Given the description of an element on the screen output the (x, y) to click on. 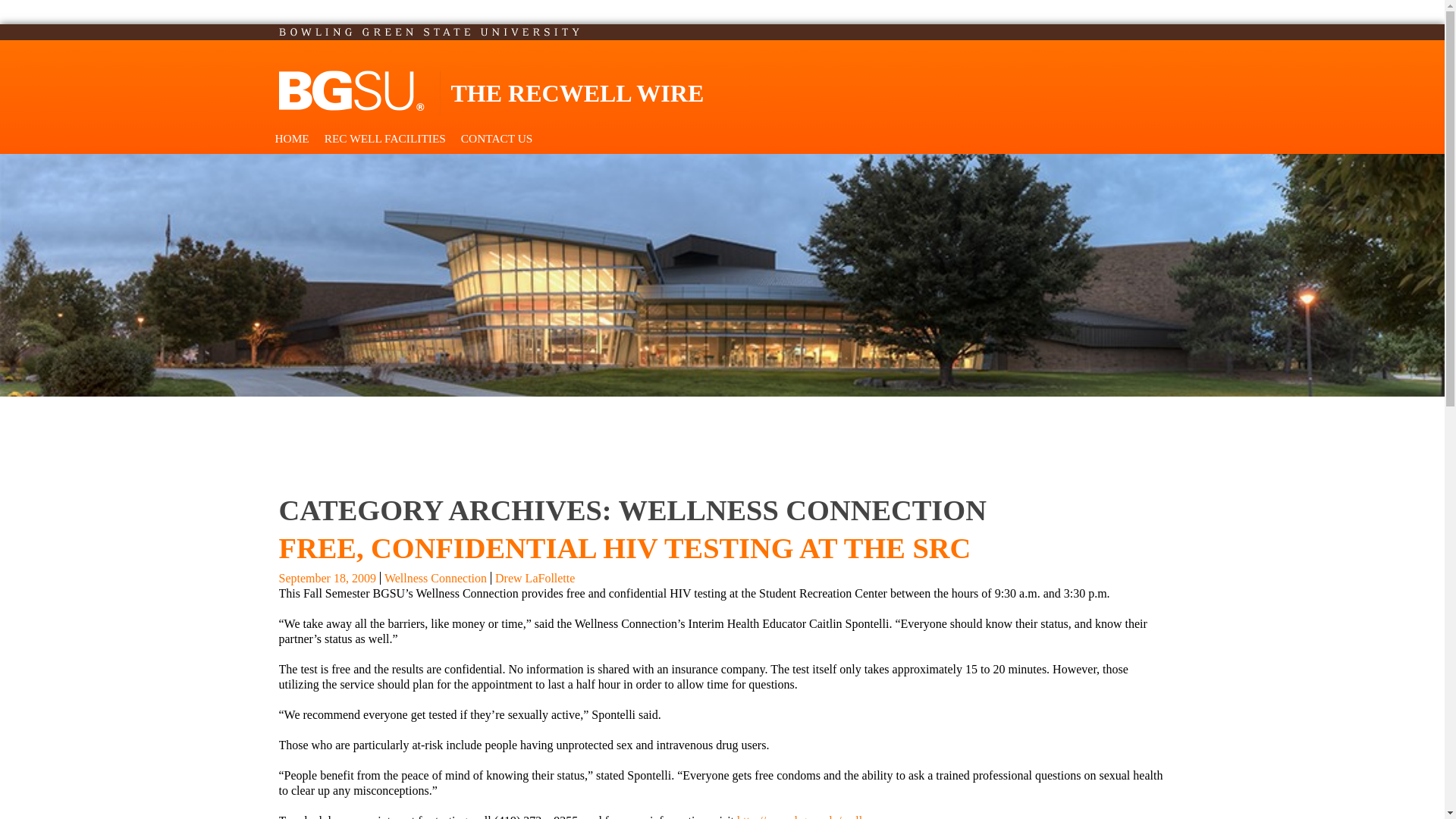
FREE, CONFIDENTIAL HIV TESTING AT THE SRC (625, 548)
REC WELL FACILITIES (384, 138)
HOME (290, 138)
September 18, 2009 (327, 577)
Permalink to Free, Confidential HIV Testing at the SRC (327, 577)
Drew LaFollette (535, 577)
View all posts by Drew LaFollette (535, 577)
Wellness Connection (435, 577)
CONTACT US (496, 138)
